Given the description of an element on the screen output the (x, y) to click on. 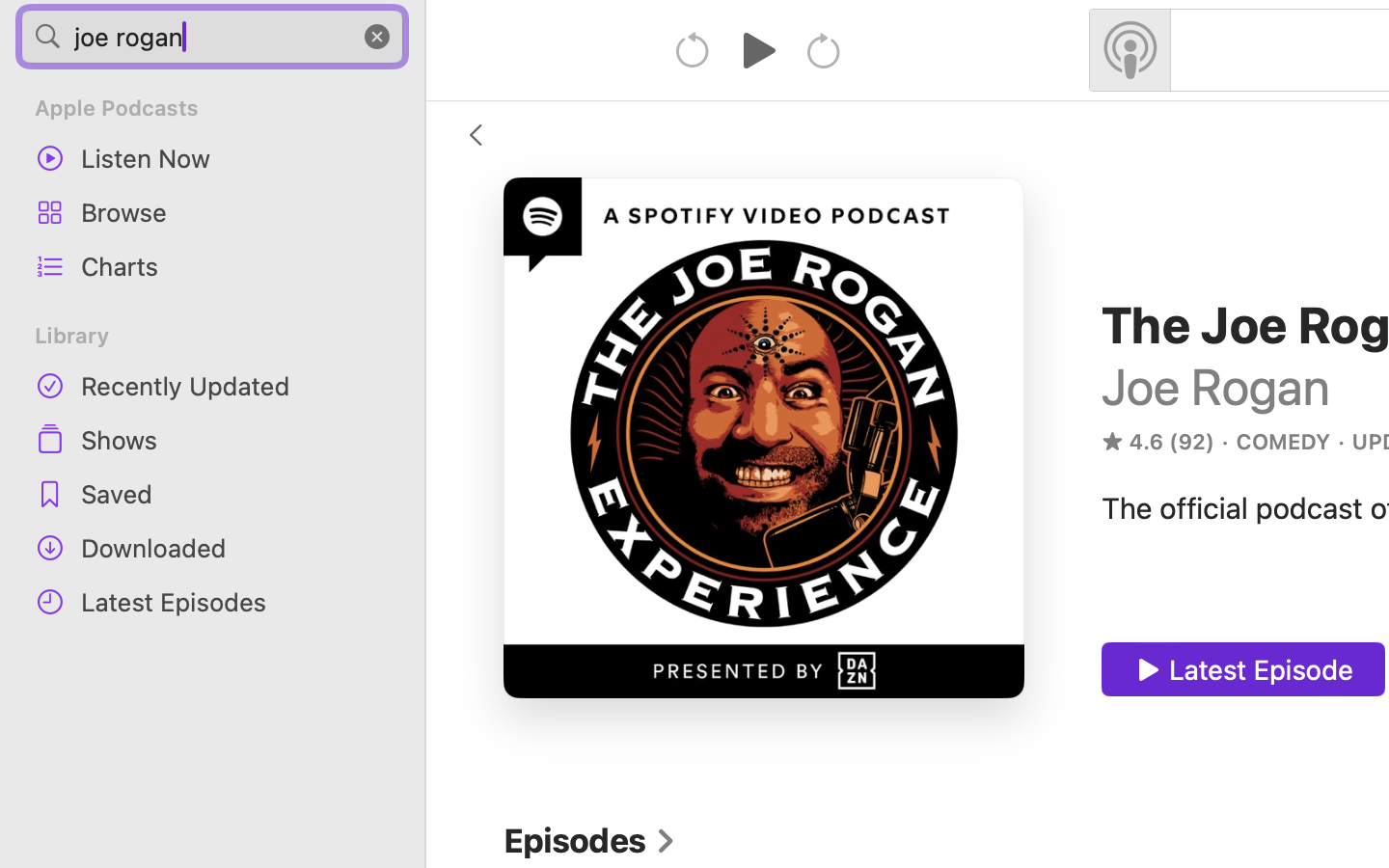
joe rogan Element type: AXTextField (212, 36)
